Given the description of an element on the screen output the (x, y) to click on. 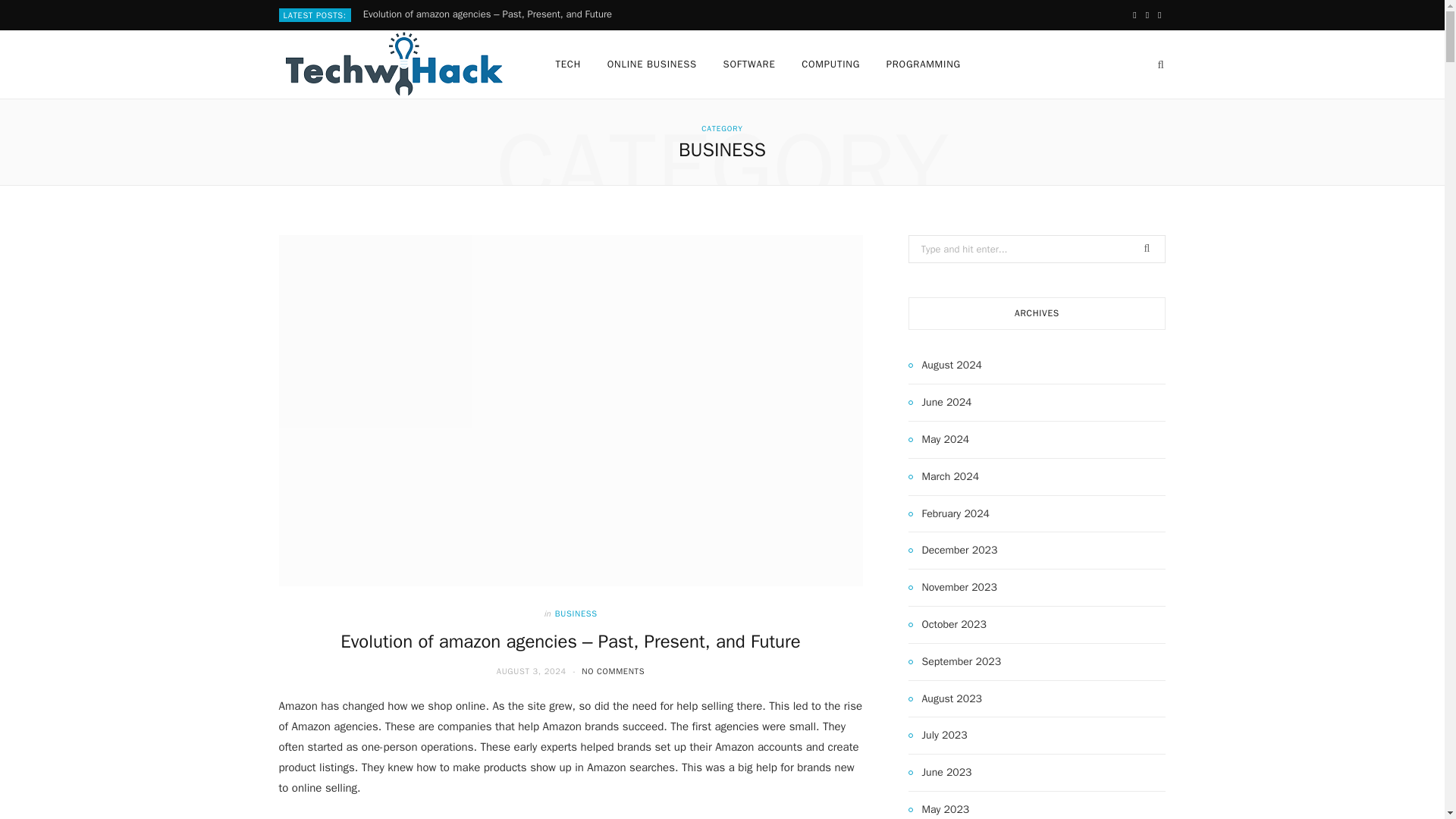
BUSINESS (575, 613)
NO COMMENTS (612, 670)
PROGRAMMING (923, 64)
AUGUST 3, 2024 (532, 670)
Techw Hack (392, 64)
COMPUTING (830, 64)
ONLINE BUSINESS (651, 64)
SOFTWARE (749, 64)
